Given the description of an element on the screen output the (x, y) to click on. 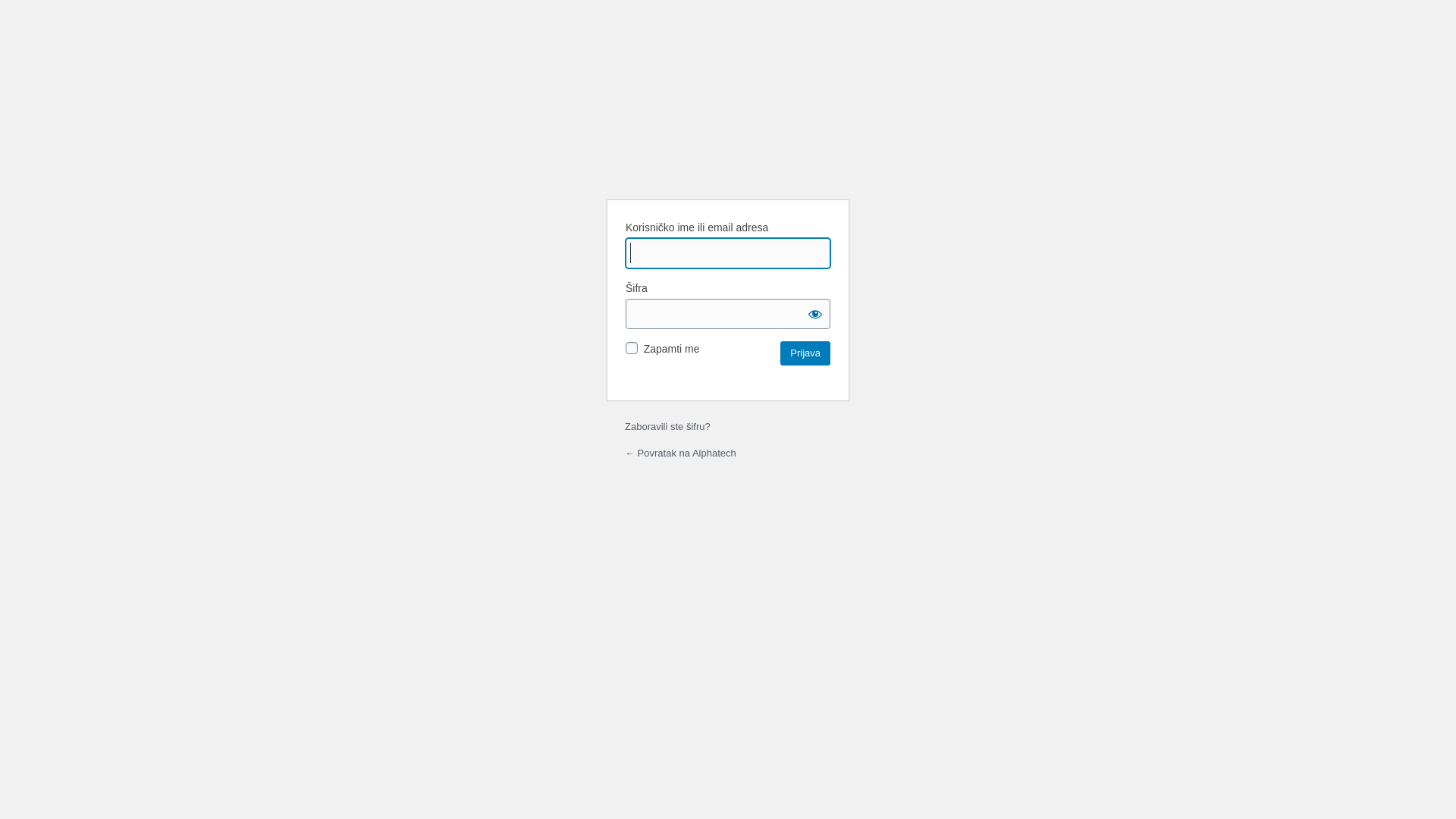
Zasnovano na WordPressu Element type: text (727, 148)
Prijava Element type: text (805, 353)
